Given the description of an element on the screen output the (x, y) to click on. 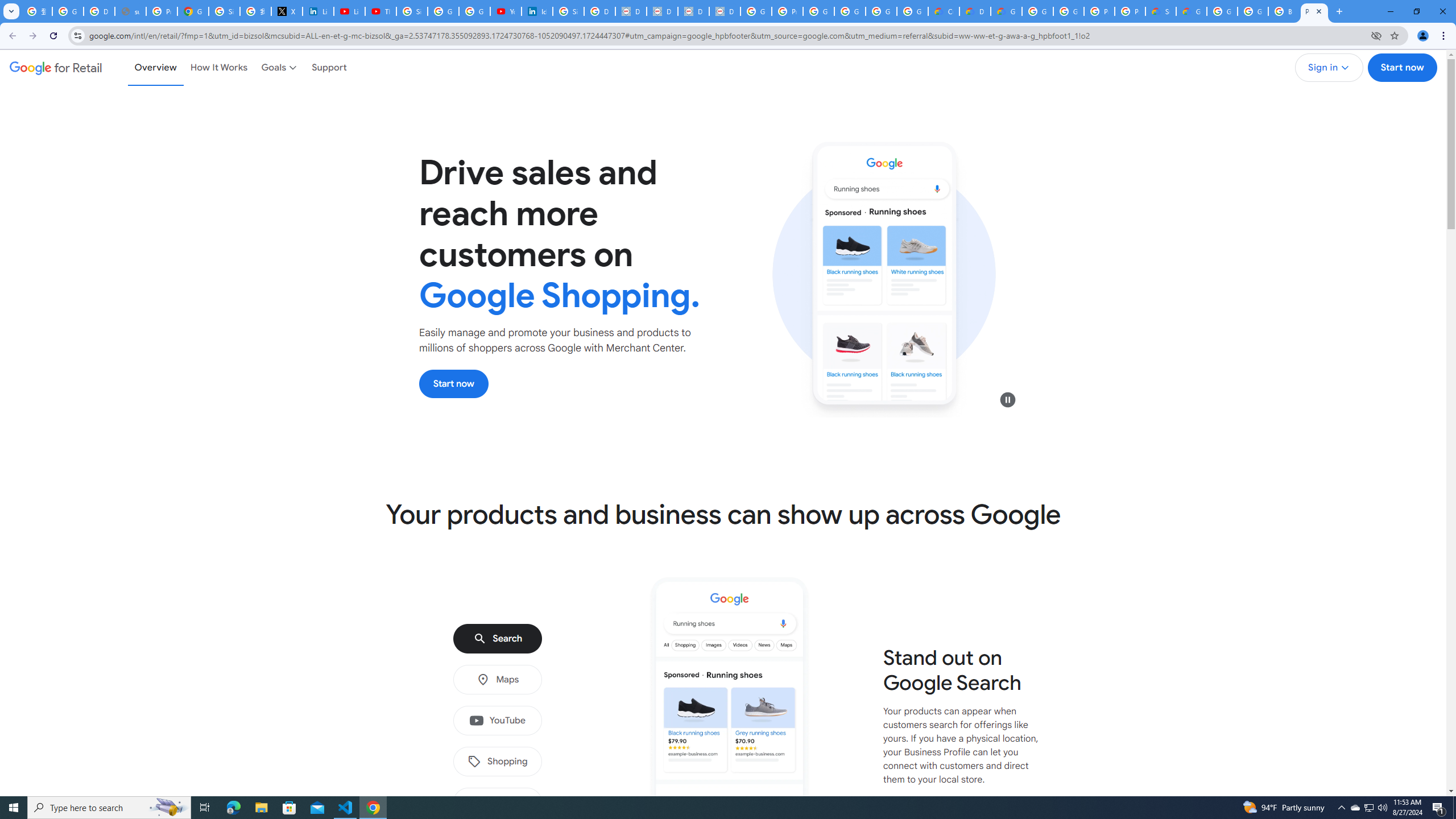
X (286, 11)
